Given the description of an element on the screen output the (x, y) to click on. 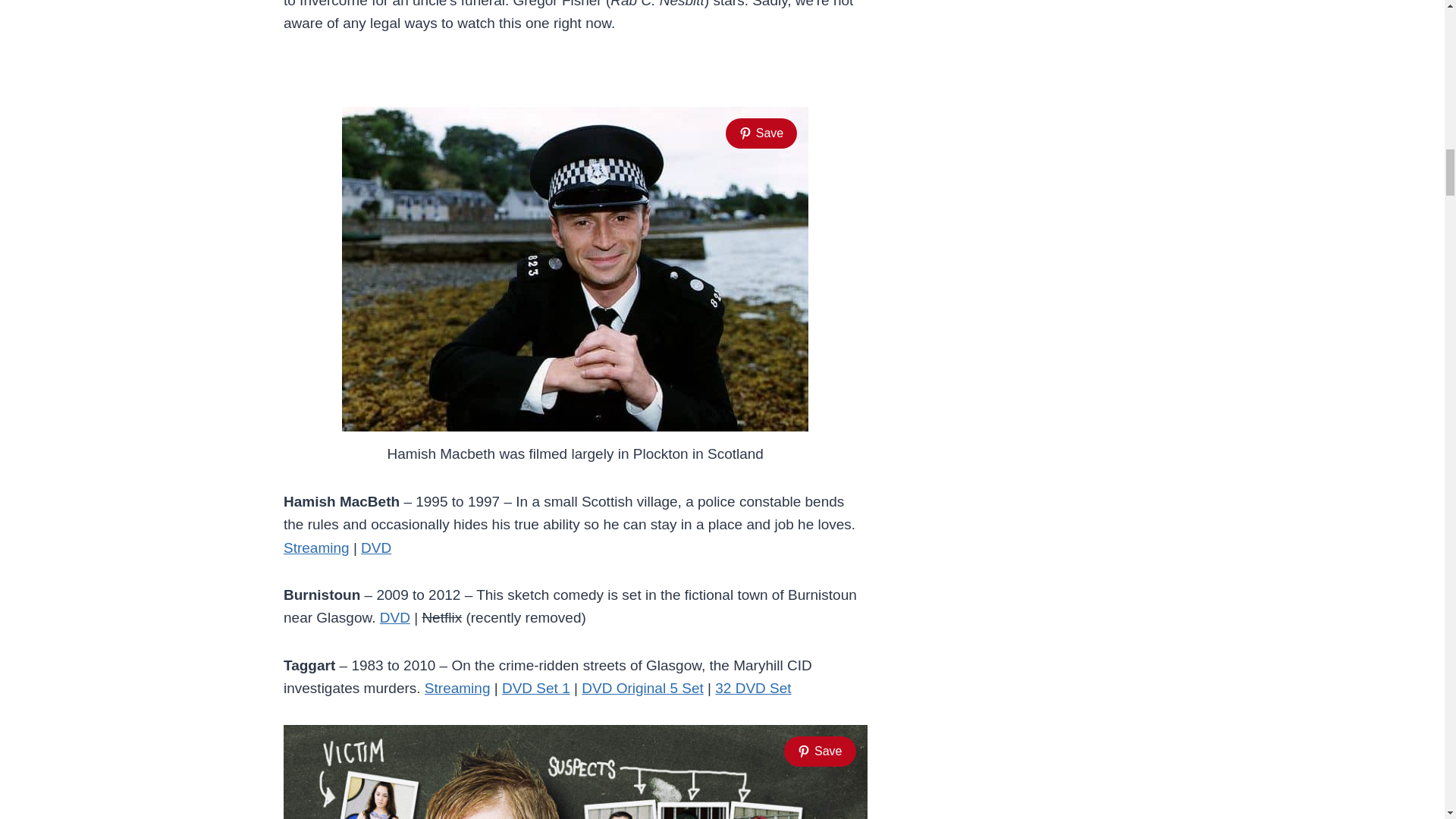
DVD (376, 547)
DVD Original 5 Set (641, 688)
DVD Set 1 (536, 688)
Streaming (316, 547)
Streaming (457, 688)
32 DVD Set (752, 688)
DVD (395, 617)
